Given the description of an element on the screen output the (x, y) to click on. 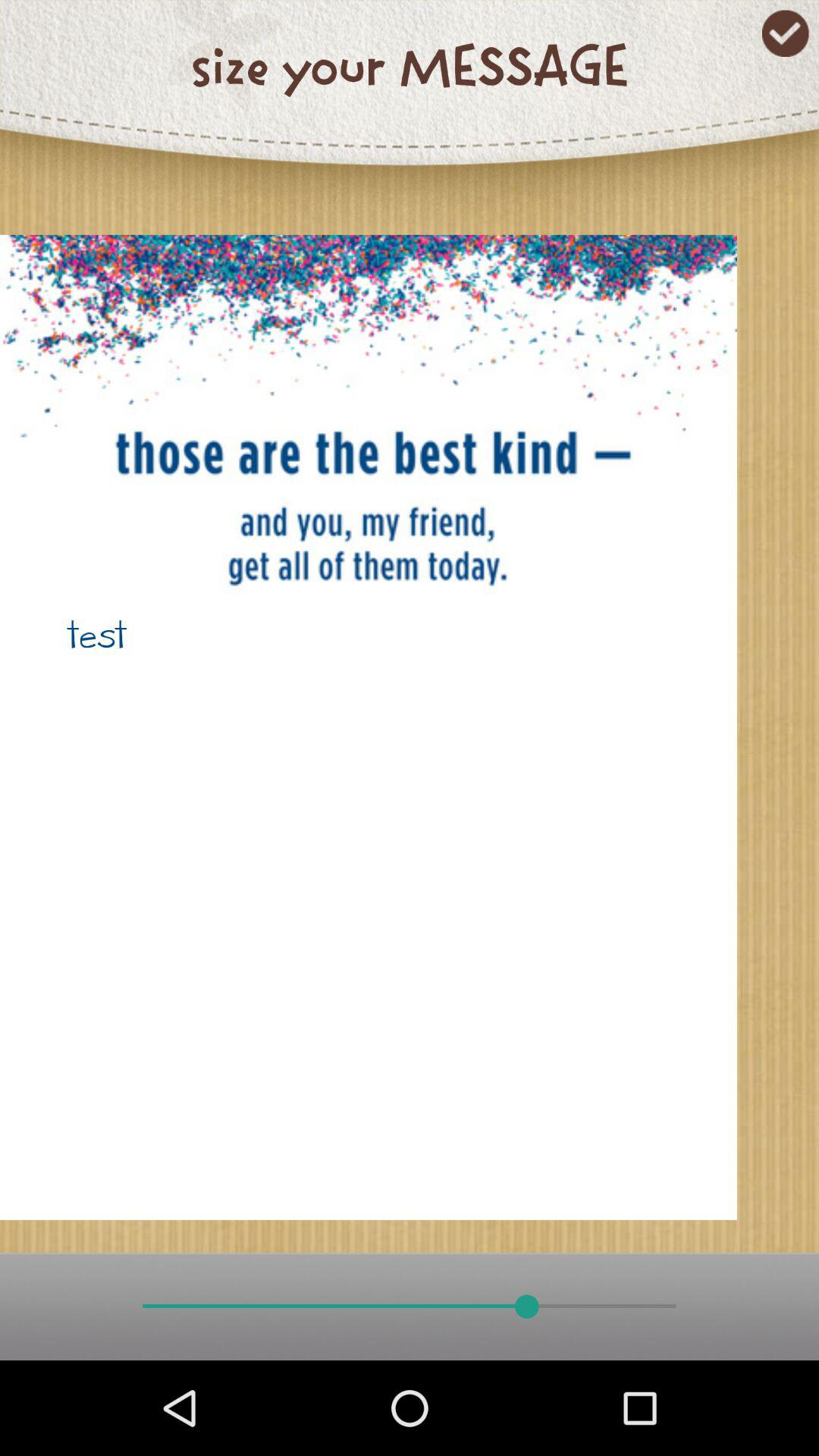
accept message (785, 33)
